Given the description of an element on the screen output the (x, y) to click on. 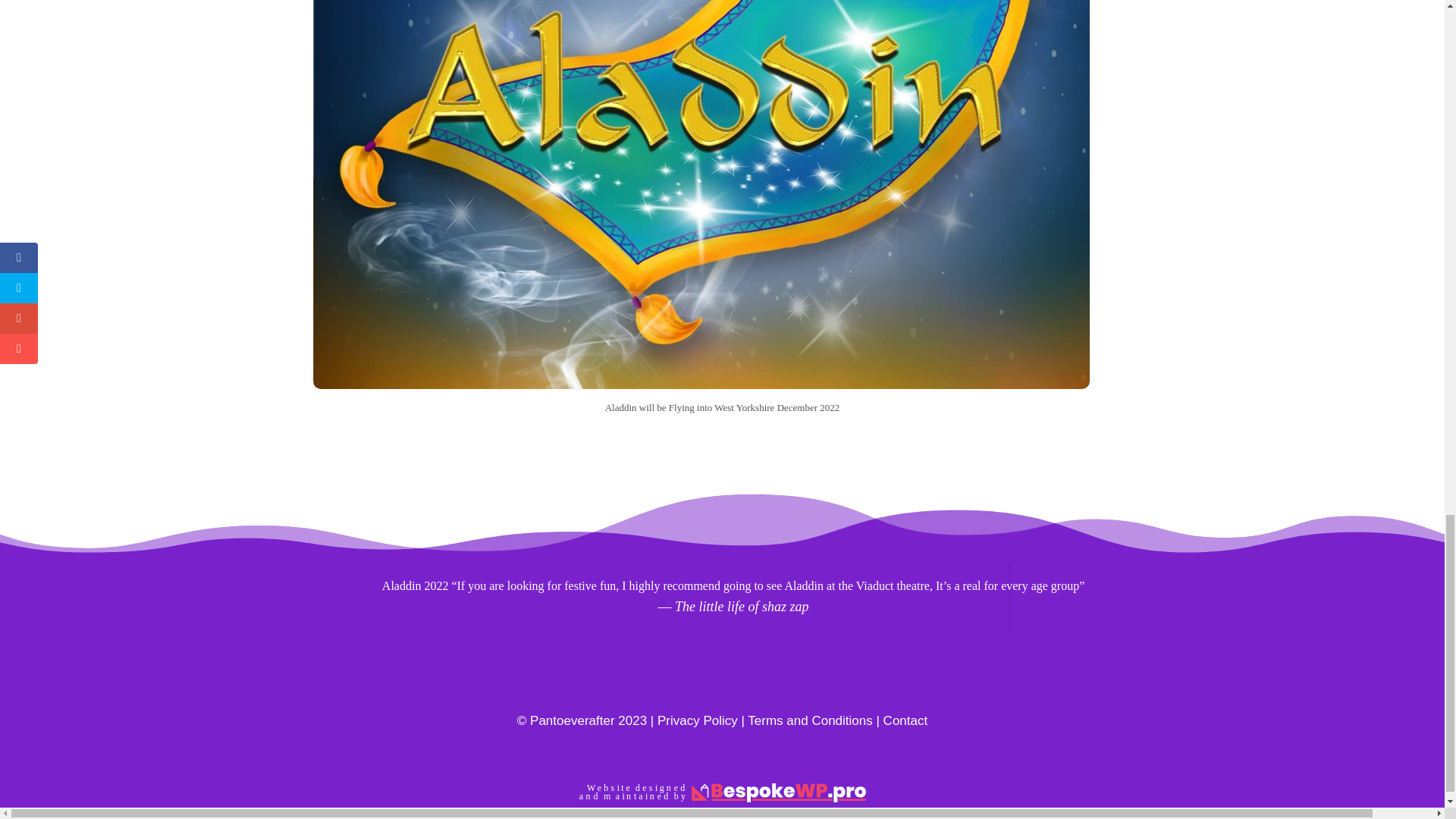
footercredit (721, 792)
Contact (905, 720)
